Given the description of an element on the screen output the (x, y) to click on. 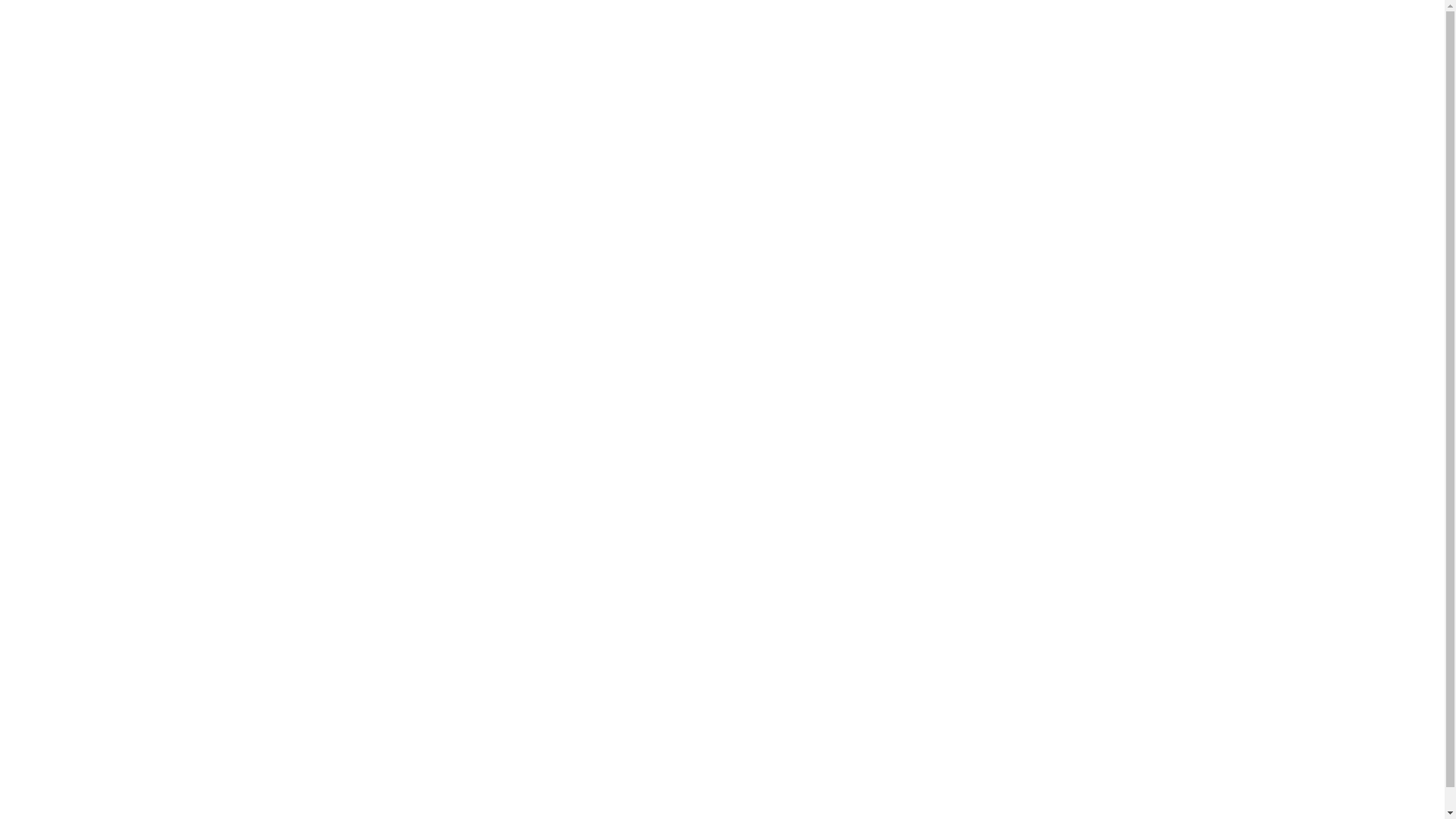
info@almaluna.ch Element type: text (66, 709)
u.n.V. Element type: text (39, 791)
Rathausplatz 6, 3011 Bern Element type: text (85, 645)
Links Element type: text (1396, 33)
Fashion Drawings Element type: text (1314, 33)
Bei amulett.ch Element type: text (58, 677)
News Element type: text (1134, 33)
Kollektion WI 23/24 Element type: text (1046, 33)
Info Element type: text (1180, 33)
Archiv Element type: text (1229, 33)
+41 31 3515429 Element type: text (62, 725)
